Given the description of an element on the screen output the (x, y) to click on. 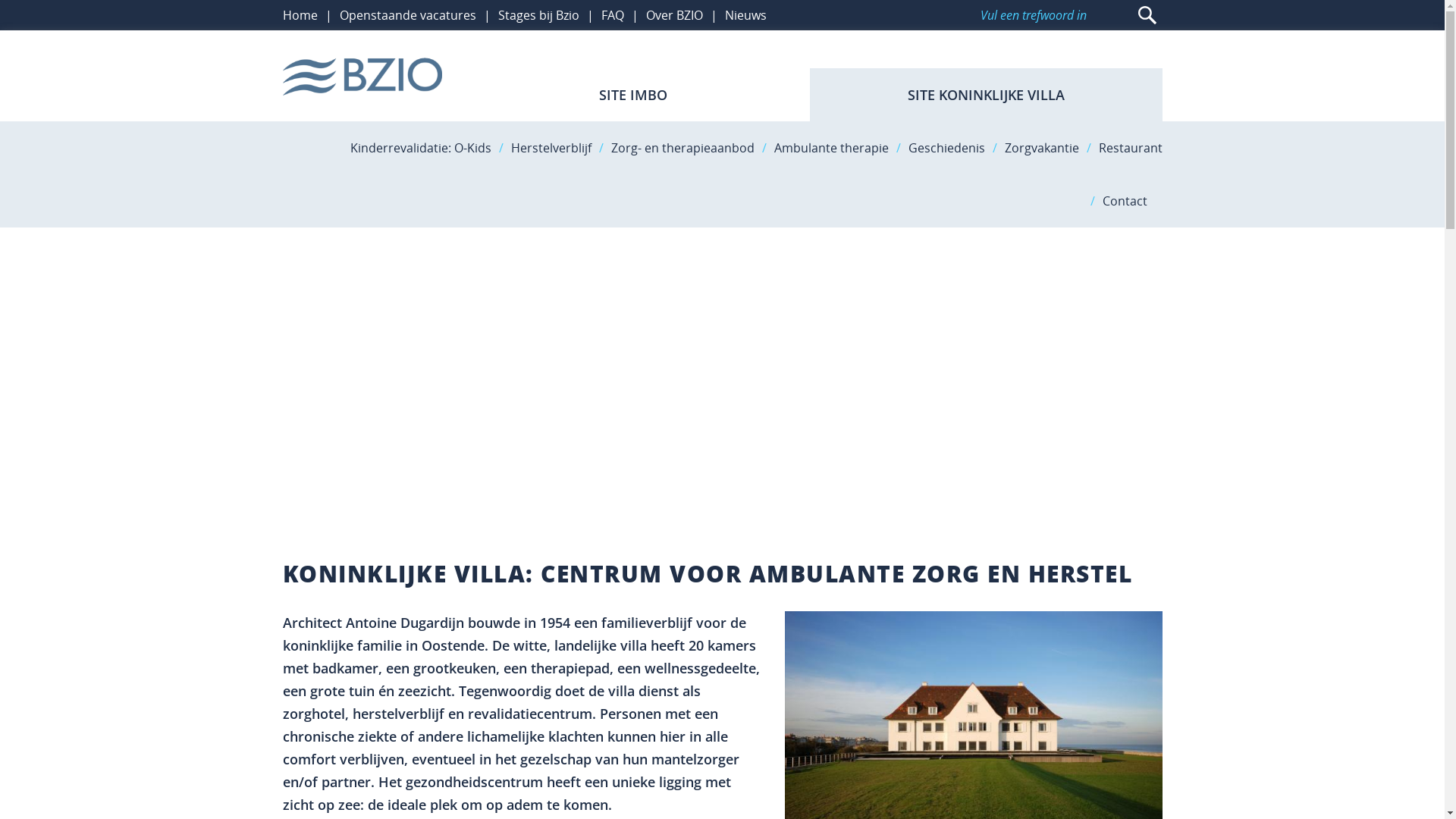
Home Element type: text (299, 15)
Ambulante therapie Element type: text (830, 147)
Openstaande vacatures Element type: text (407, 15)
Kinderrevalidatie: O-Kids Element type: text (420, 147)
Zorg- en therapieaanbod Element type: text (682, 147)
Restaurant Element type: text (1129, 147)
FAQ Element type: text (611, 15)
Herstelverblijf Element type: text (551, 147)
Nieuws Element type: text (745, 15)
Home Element type: hover (361, 76)
Zoeken Element type: text (1144, 18)
Stages bij Bzio Element type: text (537, 15)
Over BZIO Element type: text (674, 15)
SITE KONINKLIJKE VILLA Element type: text (985, 94)
SITE IMBO Element type: text (632, 94)
Contact Element type: text (1124, 200)
Geschiedenis Element type: text (946, 147)
Zorgvakantie Element type: text (1041, 147)
